Given the description of an element on the screen output the (x, y) to click on. 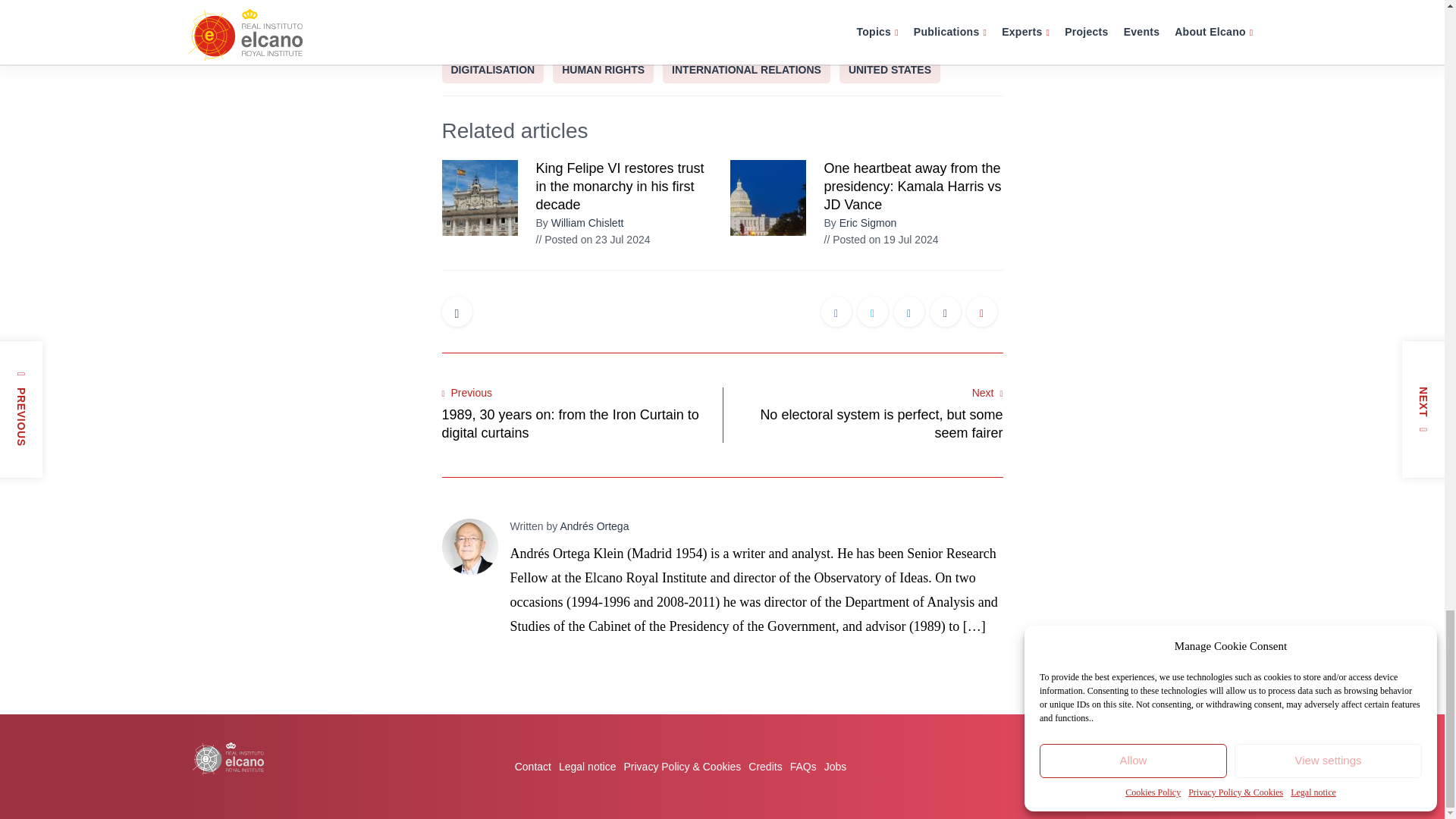
Posted on 19 Jul 2024 (880, 239)
Posted on 23 Jul 2024 (592, 239)
Copy Link (980, 313)
